Given the description of an element on the screen output the (x, y) to click on. 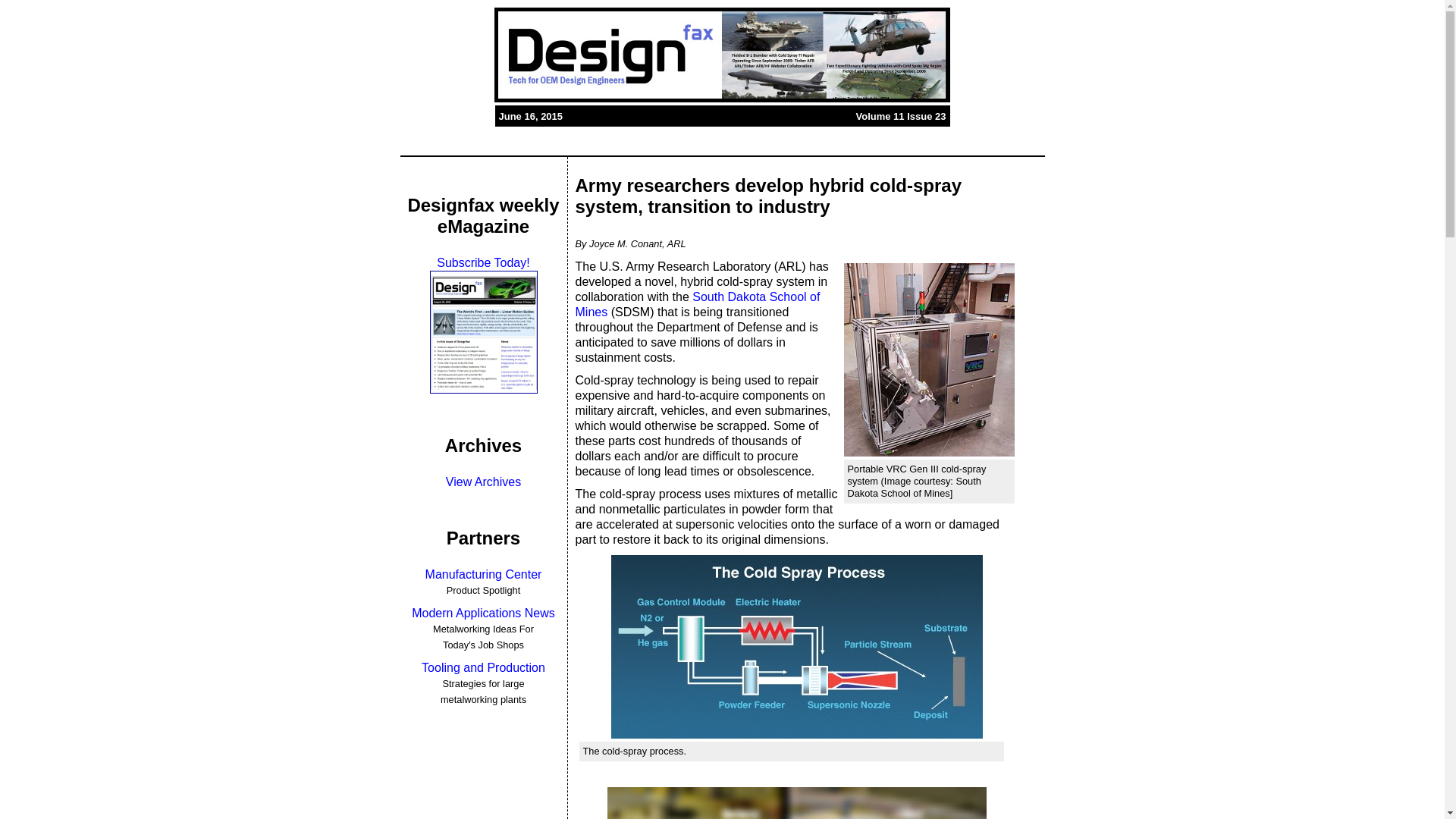
Subscribe Today! (482, 262)
Manufacturing Center (483, 574)
View Archives (483, 481)
Tooling and Production (483, 667)
Modern Applications News (483, 612)
South Dakota School of Mines (697, 304)
